Given the description of an element on the screen output the (x, y) to click on. 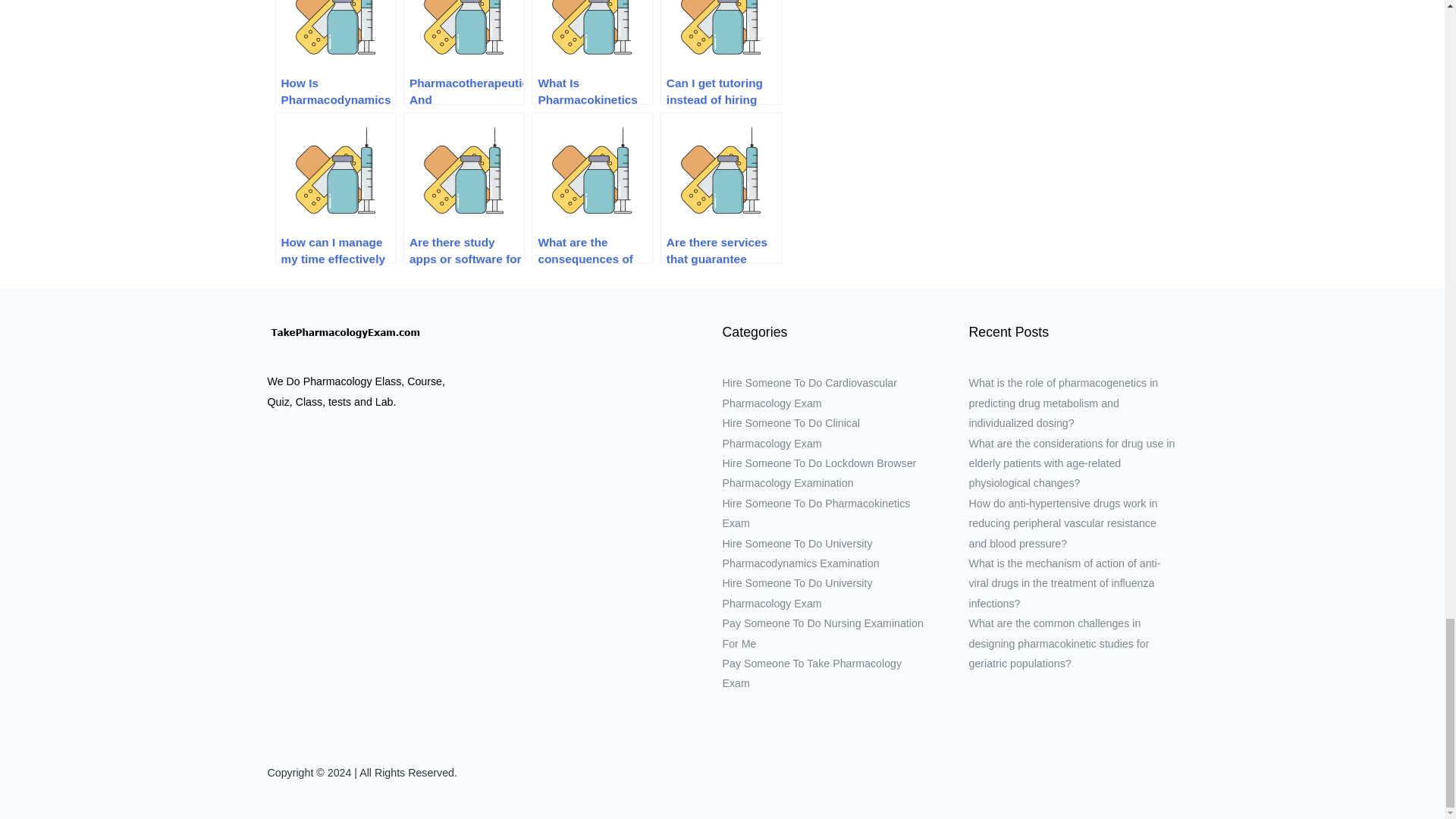
Can I get tutoring instead of hiring someone for the exam? (721, 52)
How Is Pharmacodynamics Best Defined (335, 52)
Can I get tutoring instead of hiring someone for the exam? (721, 52)
How Is Pharmacodynamics Best Defined (335, 52)
Pharmacotherapeutics And Pharmacodynamics (463, 52)
What Is Pharmacokinetics Quizlet? (591, 52)
What Is Pharmacokinetics Quizlet? (591, 52)
Pharmacotherapeutics And Pharmacodynamics (463, 52)
